Given the description of an element on the screen output the (x, y) to click on. 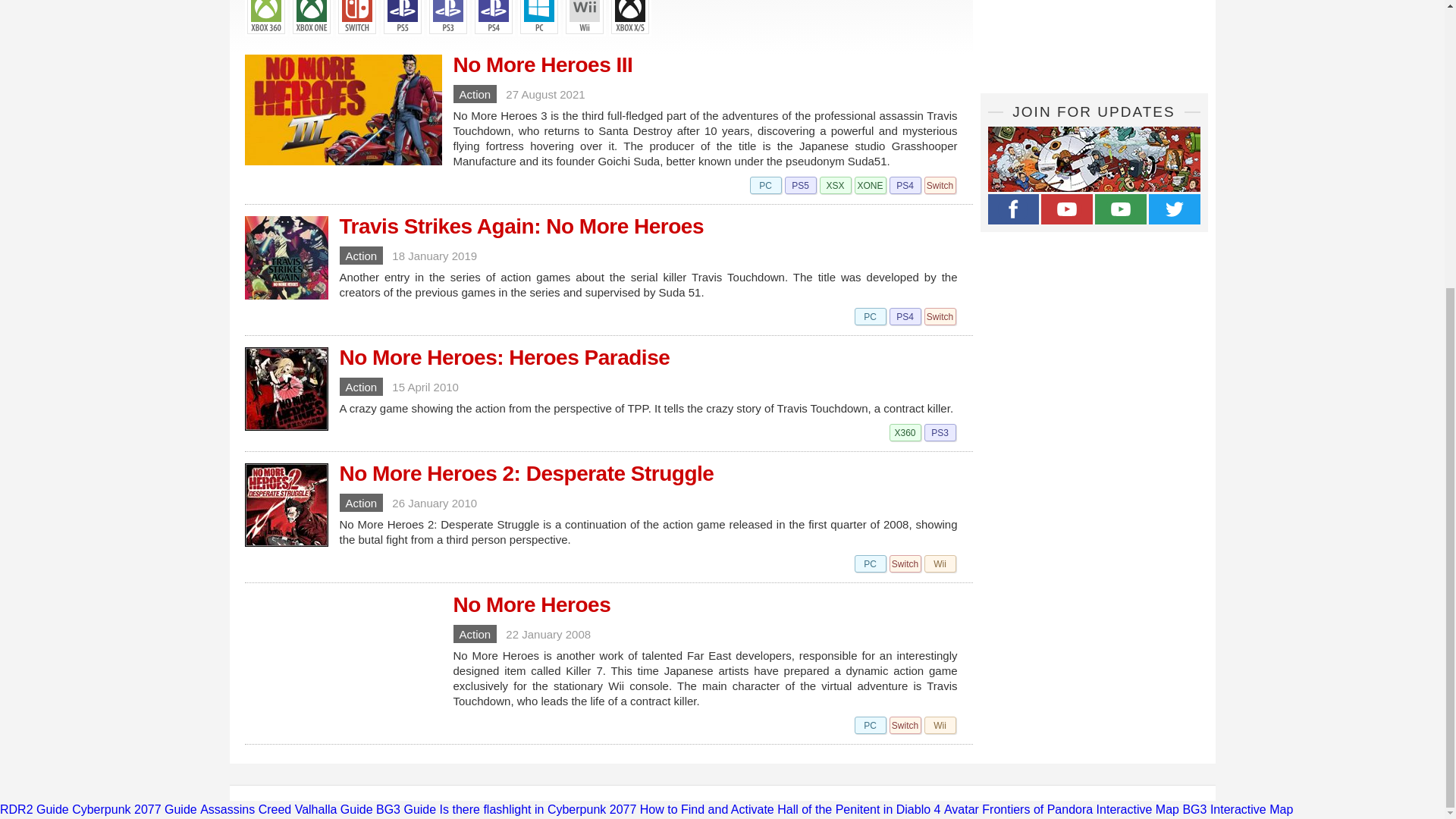
Game Guides on Youtube (1120, 209)
Gamepressure.com on Facebook (1013, 209)
Gamepressure.com na Youtube (1067, 209)
Gamepressure.com Twitter (1173, 209)
